Given the description of an element on the screen output the (x, y) to click on. 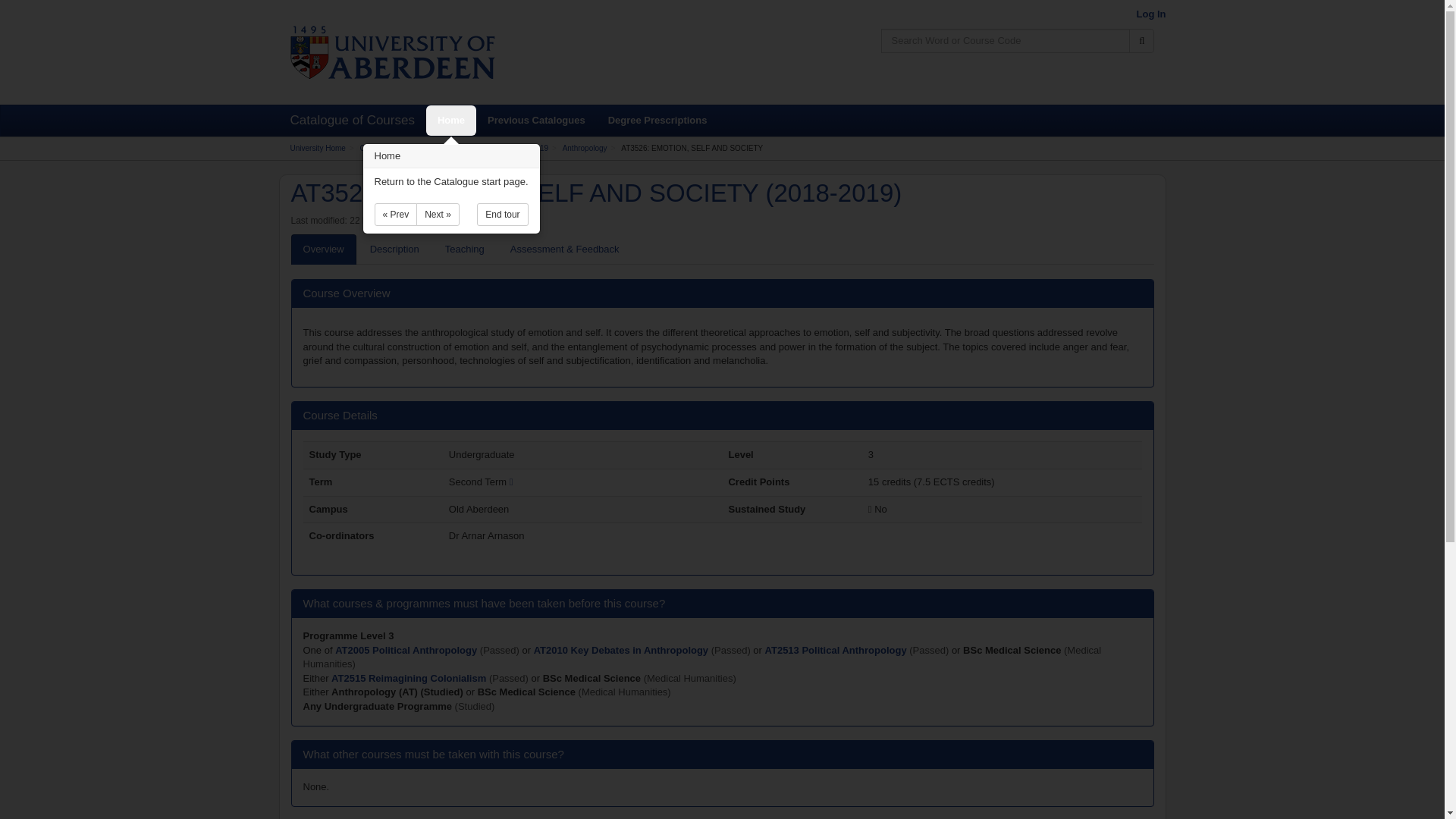
Description (394, 249)
End tour (502, 214)
Undergraduate (471, 148)
Overview (323, 249)
Catalogue of Courses (395, 148)
AT2513 Political Anthropology (837, 650)
Anthropology (584, 148)
Search Catalogue (1141, 41)
University of Aberdeen (392, 52)
Log In (1150, 13)
